Given the description of an element on the screen output the (x, y) to click on. 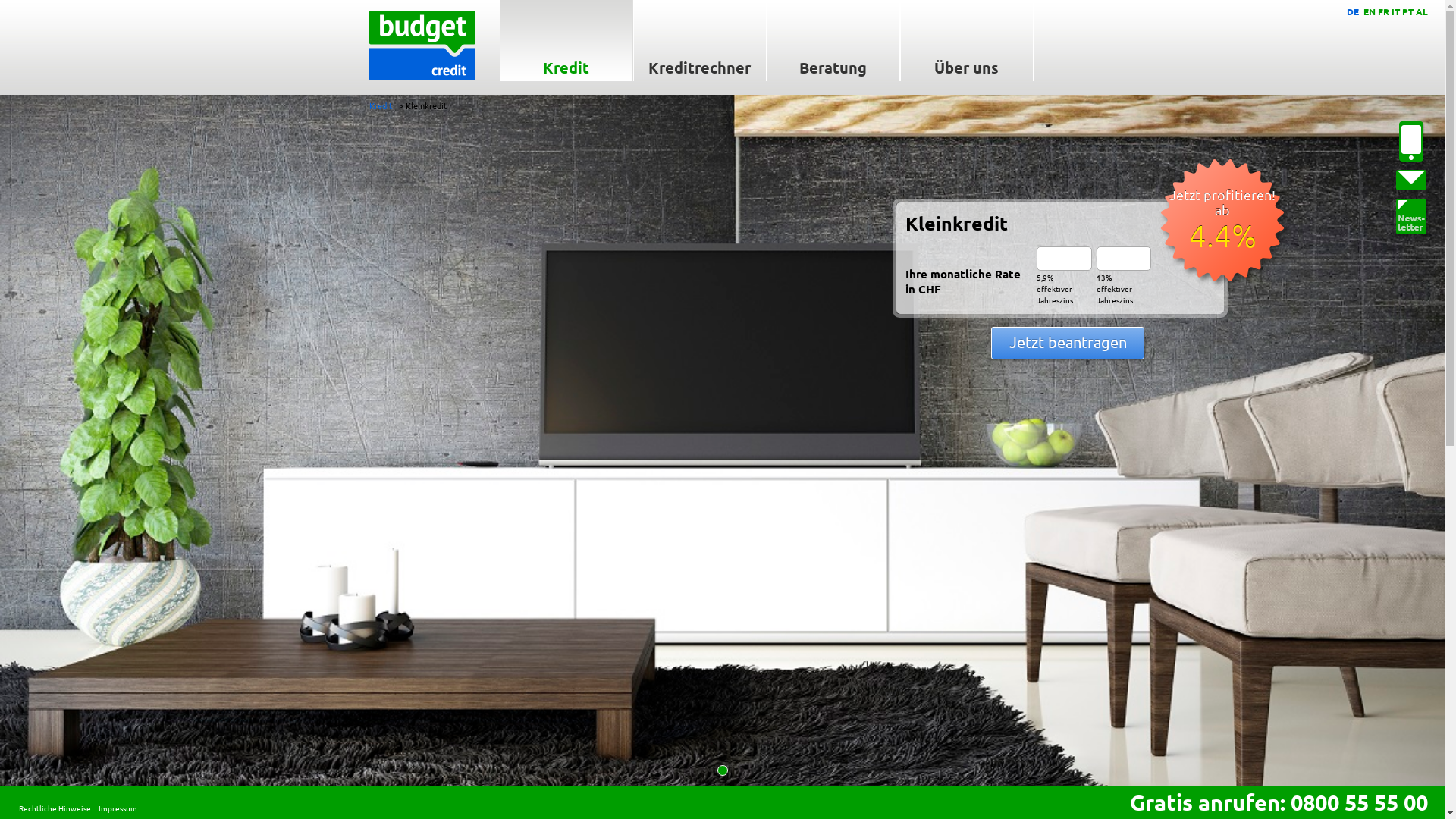
PT Element type: text (1407, 11)
Jetzt beantragen Element type: text (1067, 342)
DE Element type: text (1352, 11)
Rechtliche Hinweise Element type: text (54, 807)
FR Element type: text (1383, 11)
Kredit Element type: text (379, 105)
EN Element type: text (1369, 11)
Kreditrechner Element type: text (698, 40)
IT Element type: text (1395, 11)
Kredit Element type: text (565, 40)
Impressum Element type: text (117, 807)
AL Element type: text (1421, 11)
Beratung Element type: text (832, 40)
